Given the description of an element on the screen output the (x, y) to click on. 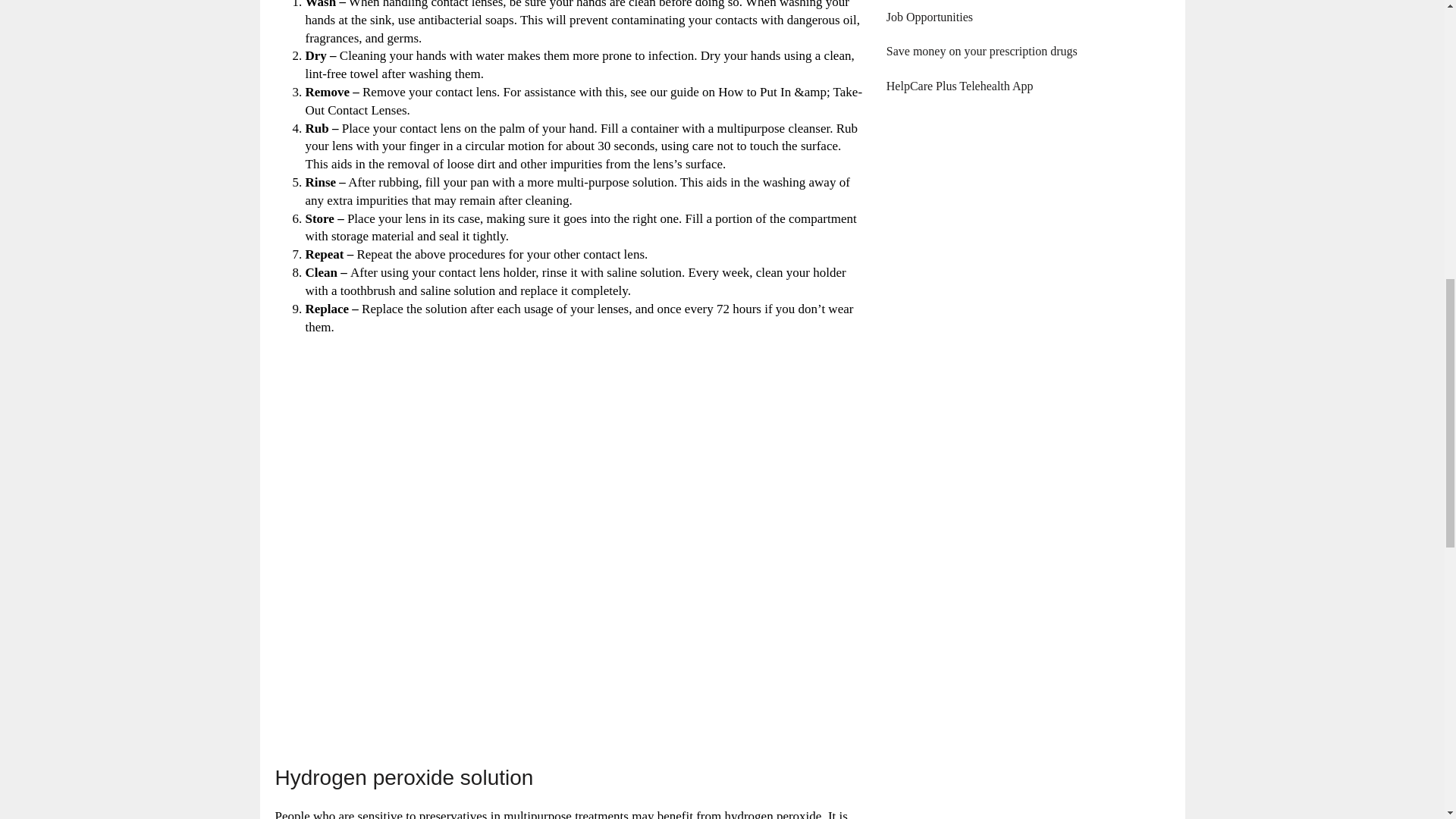
Save money on your prescription drugs (981, 51)
HelpCare Plus Telehealth App (959, 85)
Job Opportunities (929, 16)
